Given the description of an element on the screen output the (x, y) to click on. 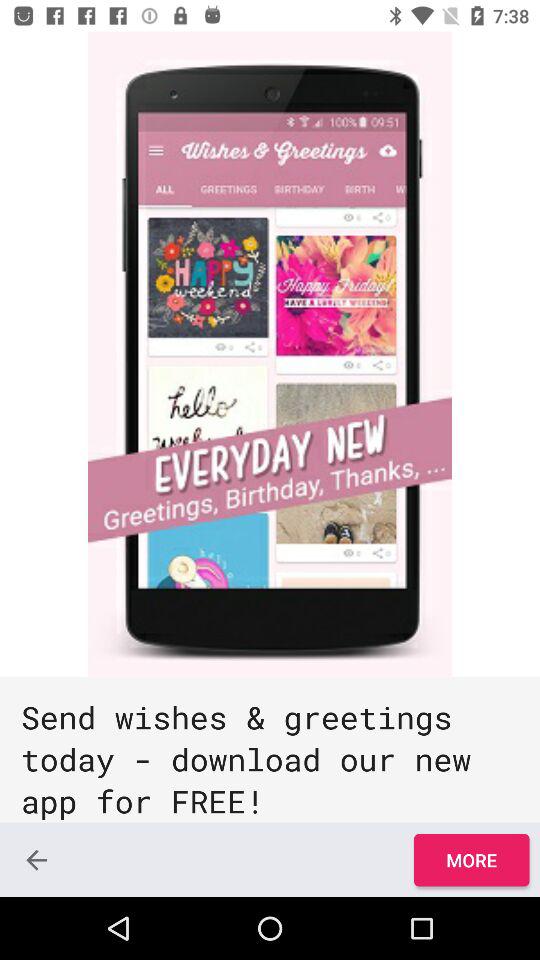
select the send wishes greetings (270, 749)
